Given the description of an element on the screen output the (x, y) to click on. 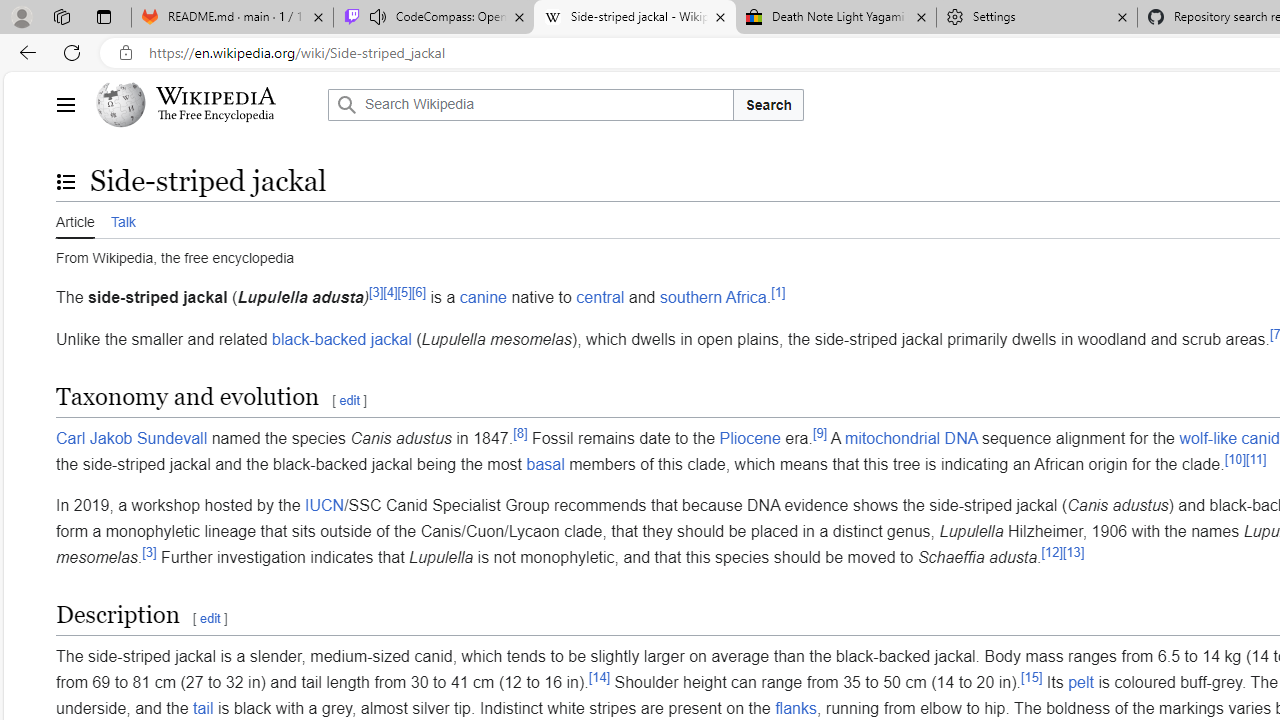
[14] (598, 676)
Carl Jakob Sundevall (131, 438)
The Free Encyclopedia (216, 116)
[12] (1051, 552)
Talk (122, 219)
[6] (418, 291)
[11] (1256, 458)
Wikipedia The Free Encyclopedia (206, 104)
[5] (404, 291)
mitochondrial DNA (910, 438)
Side-striped jackal - Wikipedia (634, 17)
